Given the description of an element on the screen output the (x, y) to click on. 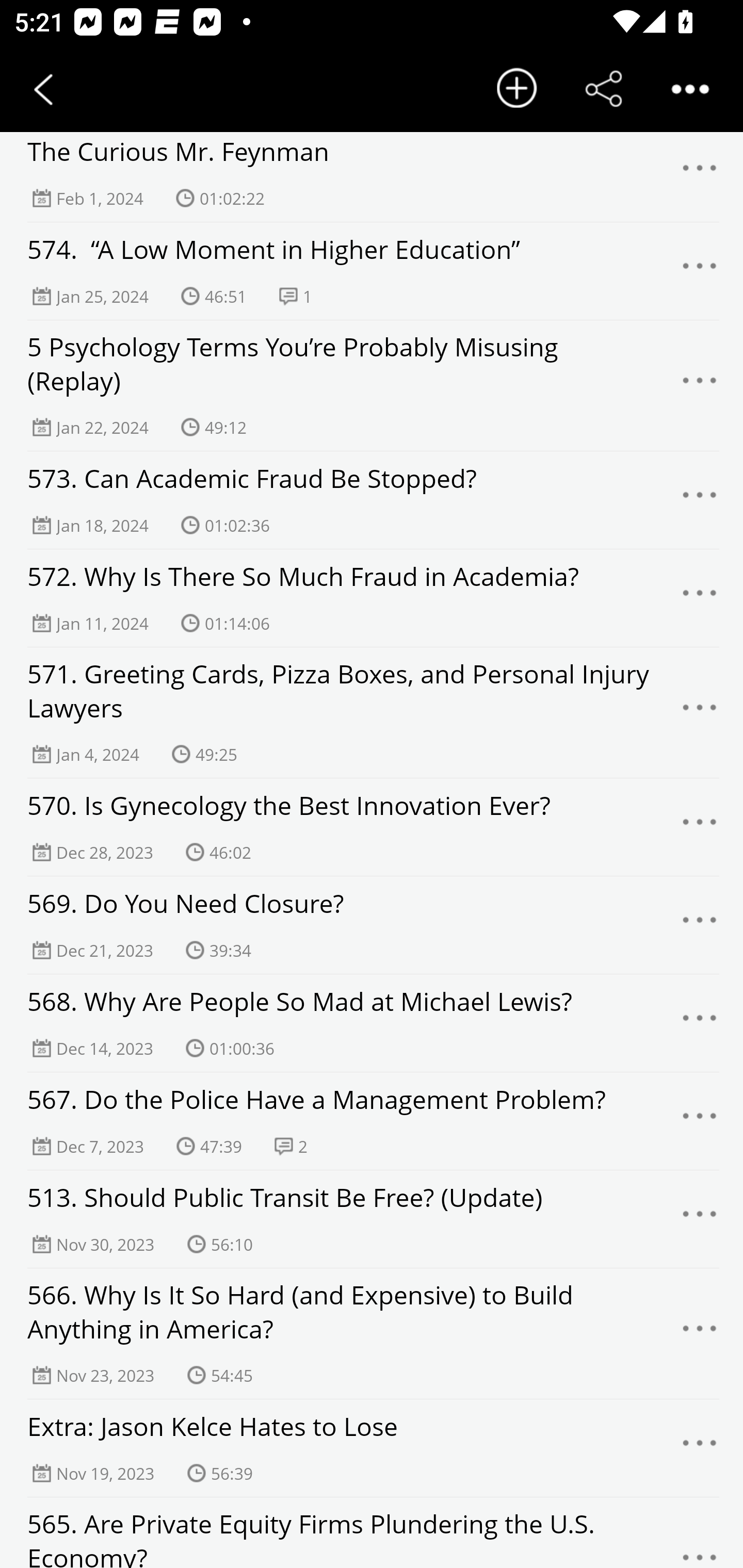
Back (43, 88)
The Curious Mr. Feynman Feb 1, 2024 01:02:22 Menu (371, 172)
Menu (699, 173)
Menu (699, 271)
Menu (699, 385)
Menu (699, 500)
Menu (699, 598)
Menu (699, 712)
Menu (699, 827)
569. Do You Need Closure? Dec 21, 2023 39:34 Menu (371, 924)
Menu (699, 925)
Menu (699, 1023)
Menu (699, 1121)
Menu (699, 1219)
Menu (699, 1333)
Menu (699, 1447)
Menu (699, 1543)
